Given the description of an element on the screen output the (x, y) to click on. 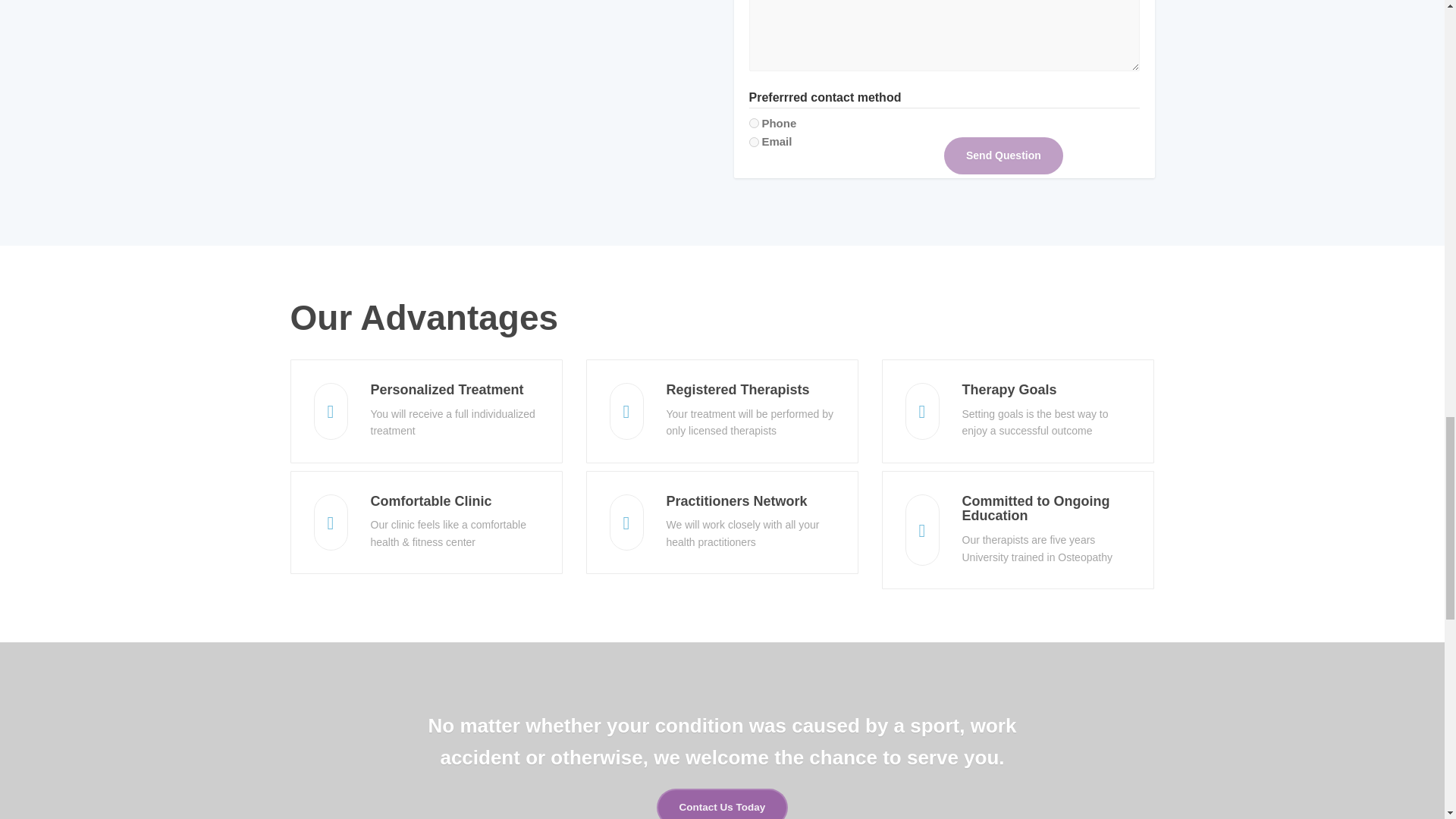
Email (753, 142)
Phone (753, 122)
Send Question (1002, 155)
